Given the description of an element on the screen output the (x, y) to click on. 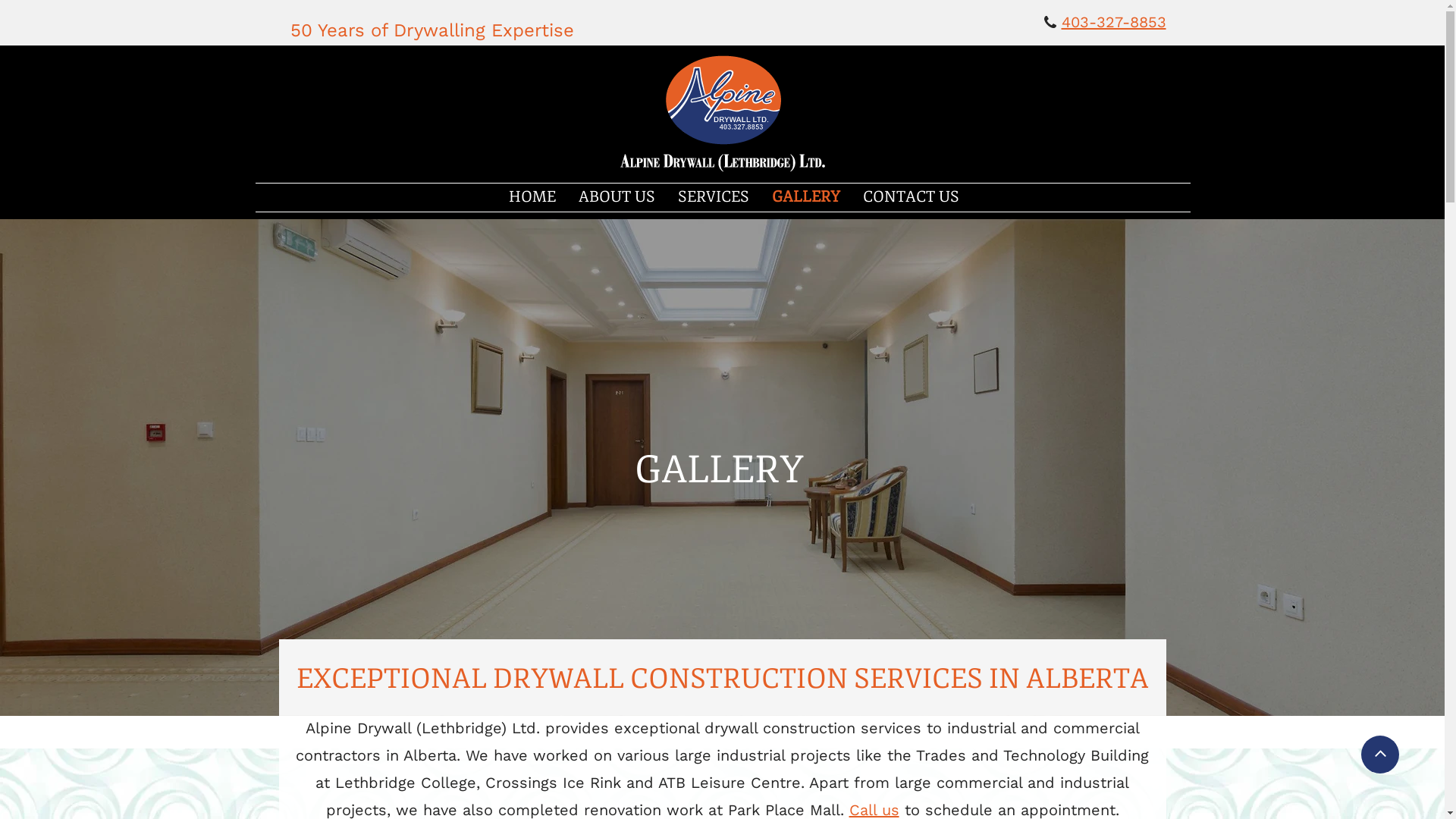
HOME Element type: text (531, 197)
SERVICES Element type: text (713, 197)
GALLERY Element type: text (805, 197)
Call us Element type: text (874, 812)
CONTACT US Element type: text (910, 197)
ABOUT US Element type: text (615, 197)
403-327-8853 Element type: text (1113, 24)
